Given the description of an element on the screen output the (x, y) to click on. 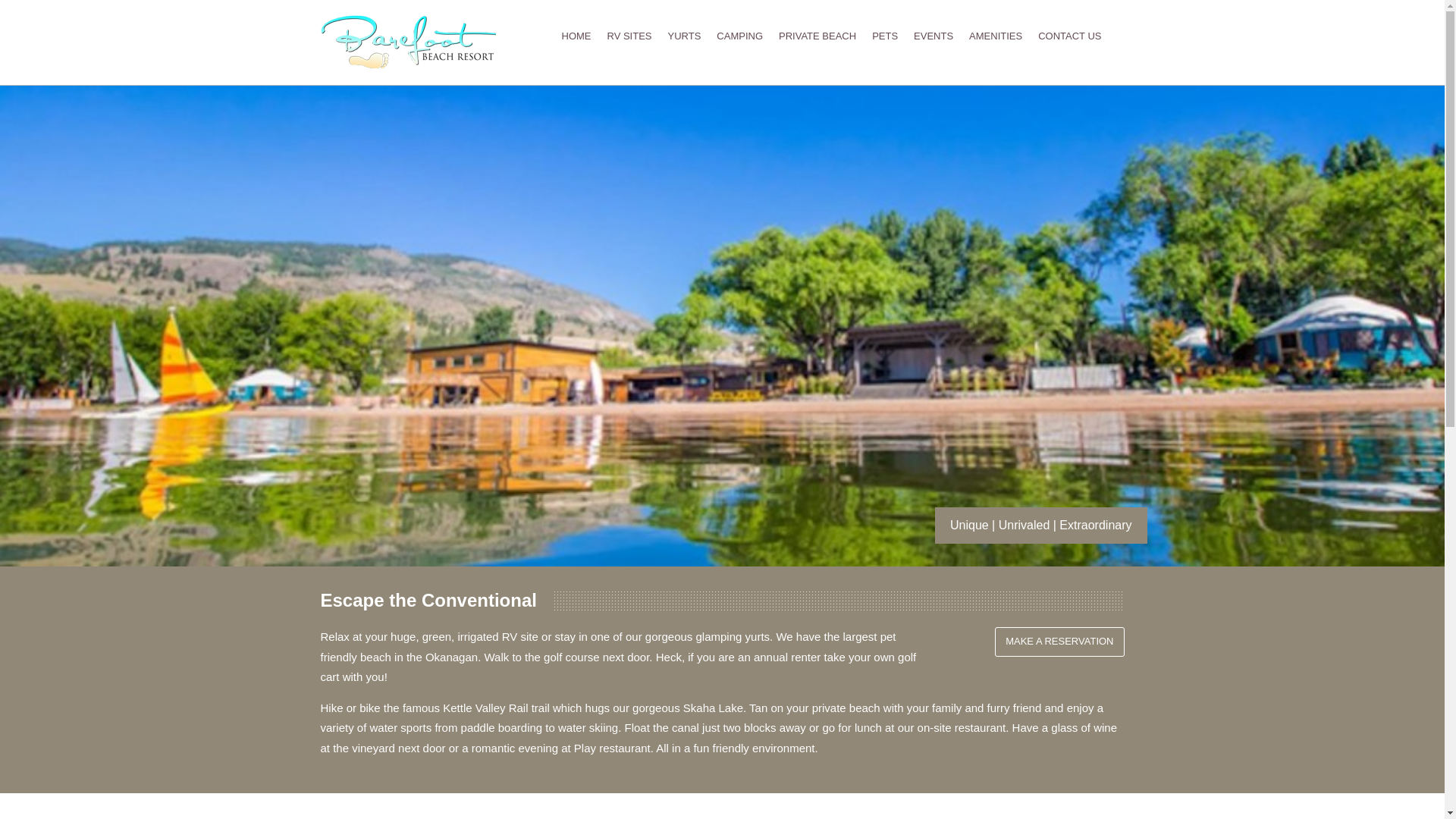
MAKE A RESERVATION (1059, 641)
PRIVATE BEACH (817, 27)
RV SITES (628, 27)
CAMPING (739, 27)
CONTACT US (1069, 27)
EVENTS (932, 27)
AMENITIES (994, 27)
